Given the description of an element on the screen output the (x, y) to click on. 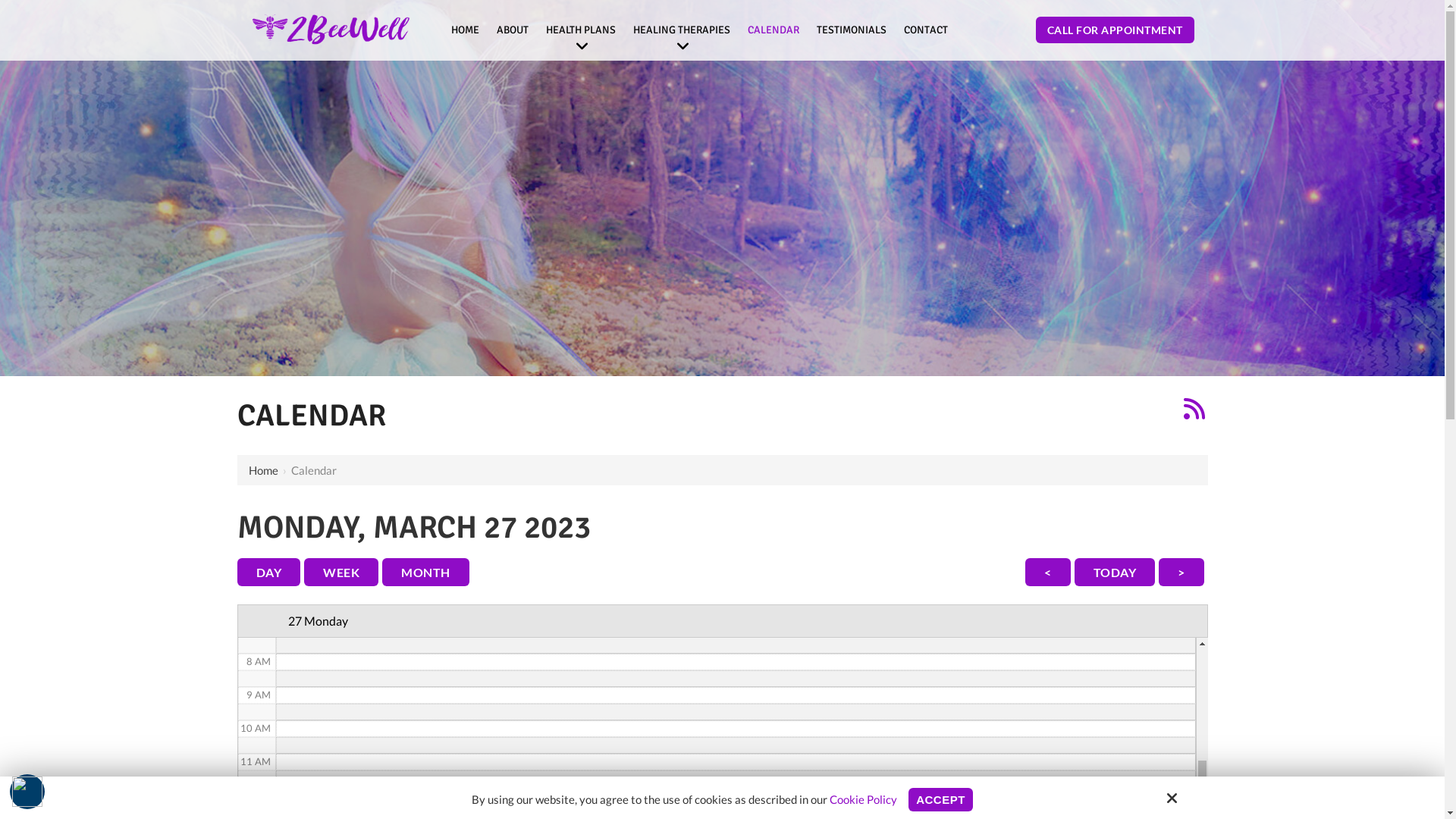
TODAY Element type: text (1113, 572)
HEALTH PLANS Element type: text (580, 30)
DAY Element type: text (268, 572)
WEEK Element type: text (341, 572)
HOME Element type: text (465, 30)
> Element type: text (1181, 572)
CALL FOR APPOINTMENT Element type: text (1114, 29)
< Element type: text (1047, 572)
ABOUT Element type: text (512, 30)
ACCEPT Element type: text (940, 799)
CALENDAR Element type: text (773, 30)
MONTH Element type: text (425, 572)
Home Element type: text (263, 469)
HEALING THERAPIES Element type: text (681, 30)
TESTIMONIALS Element type: text (851, 30)
CONTACT Element type: text (925, 30)
Cookie Policy Element type: text (863, 799)
